Given the description of an element on the screen output the (x, y) to click on. 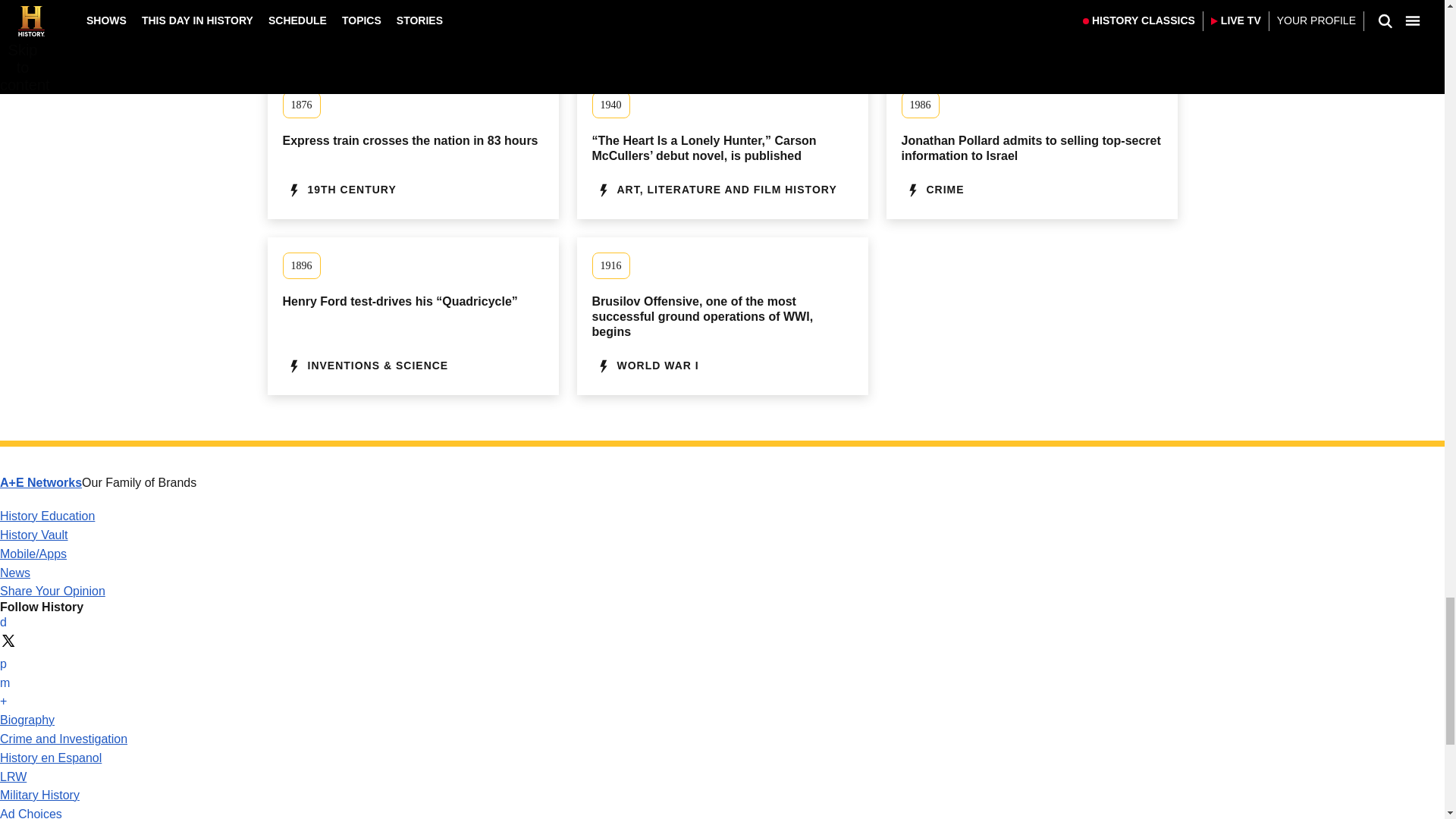
Visit Ad Choices (31, 813)
Visit News (15, 572)
Visit Military History (40, 794)
Visit Biography (27, 719)
Visit History Education (47, 515)
Visit History en Espanol (50, 757)
Visit LRW (13, 776)
Visit Share Your Opinion (52, 590)
Visit History Vault (34, 534)
Visit Crime and Investigation (64, 738)
